Given the description of an element on the screen output the (x, y) to click on. 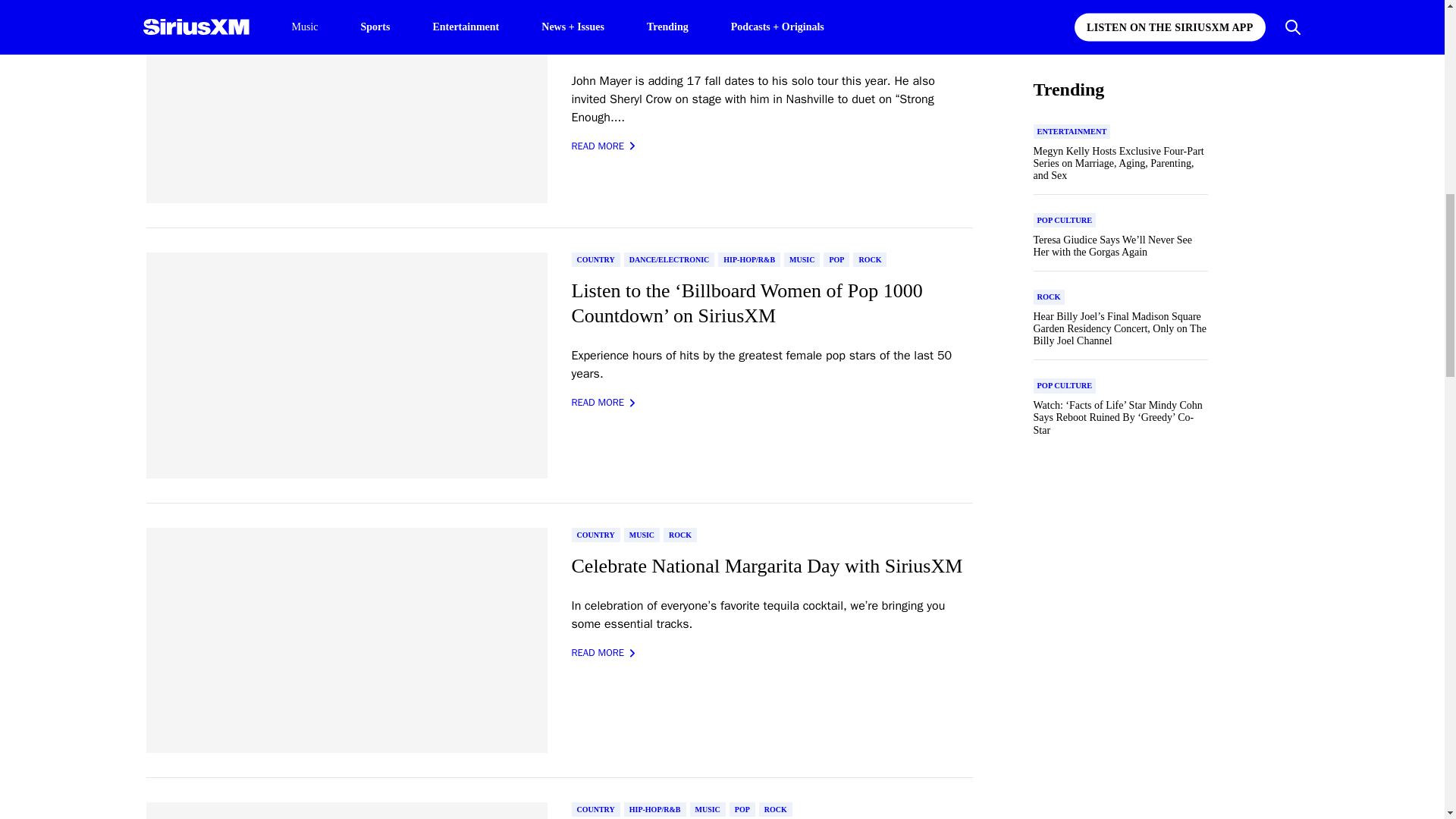
READ MORE (603, 145)
John Mayer Extends Solo Tour, Duets with Sheryl Crow (772, 29)
COUNTRY (596, 259)
